Given the description of an element on the screen output the (x, y) to click on. 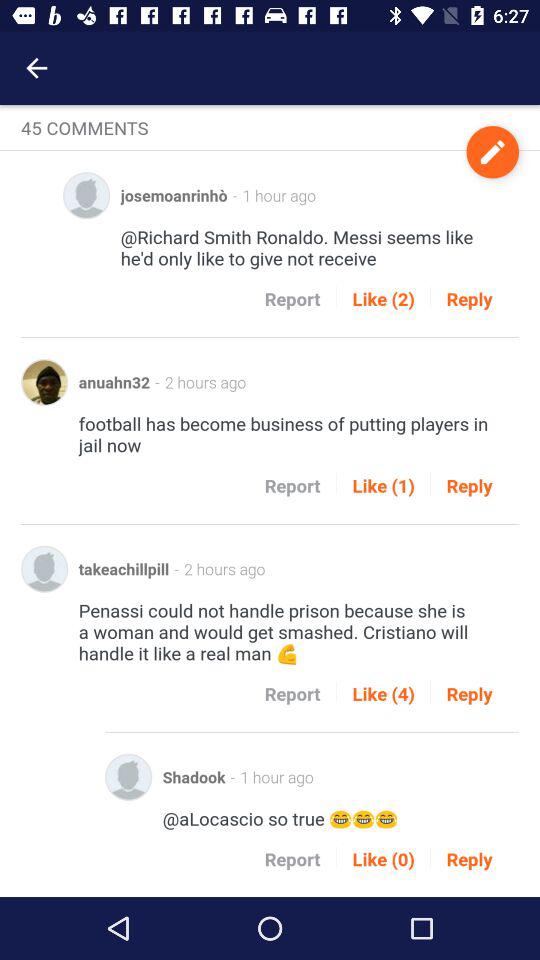
turn off like (2) icon (383, 298)
